Given the description of an element on the screen output the (x, y) to click on. 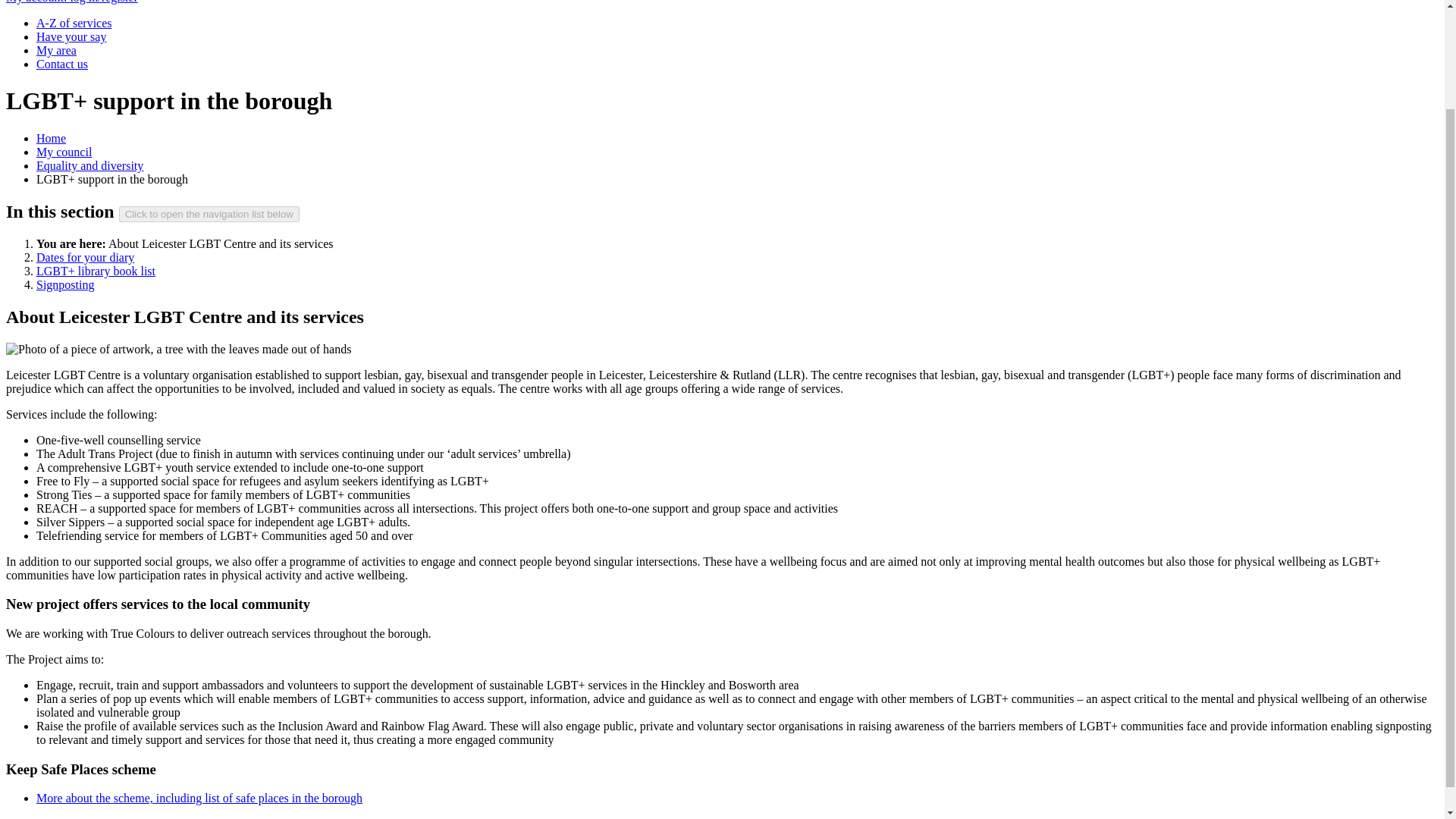
My area (56, 50)
Contact us (61, 63)
Equality and diversity (89, 164)
Have your say (71, 36)
Dates for your diary (84, 256)
Home (50, 137)
A-Z of services (74, 22)
Click to open the navigation list below (209, 213)
My council (63, 151)
Signposting (65, 284)
